Given the description of an element on the screen output the (x, y) to click on. 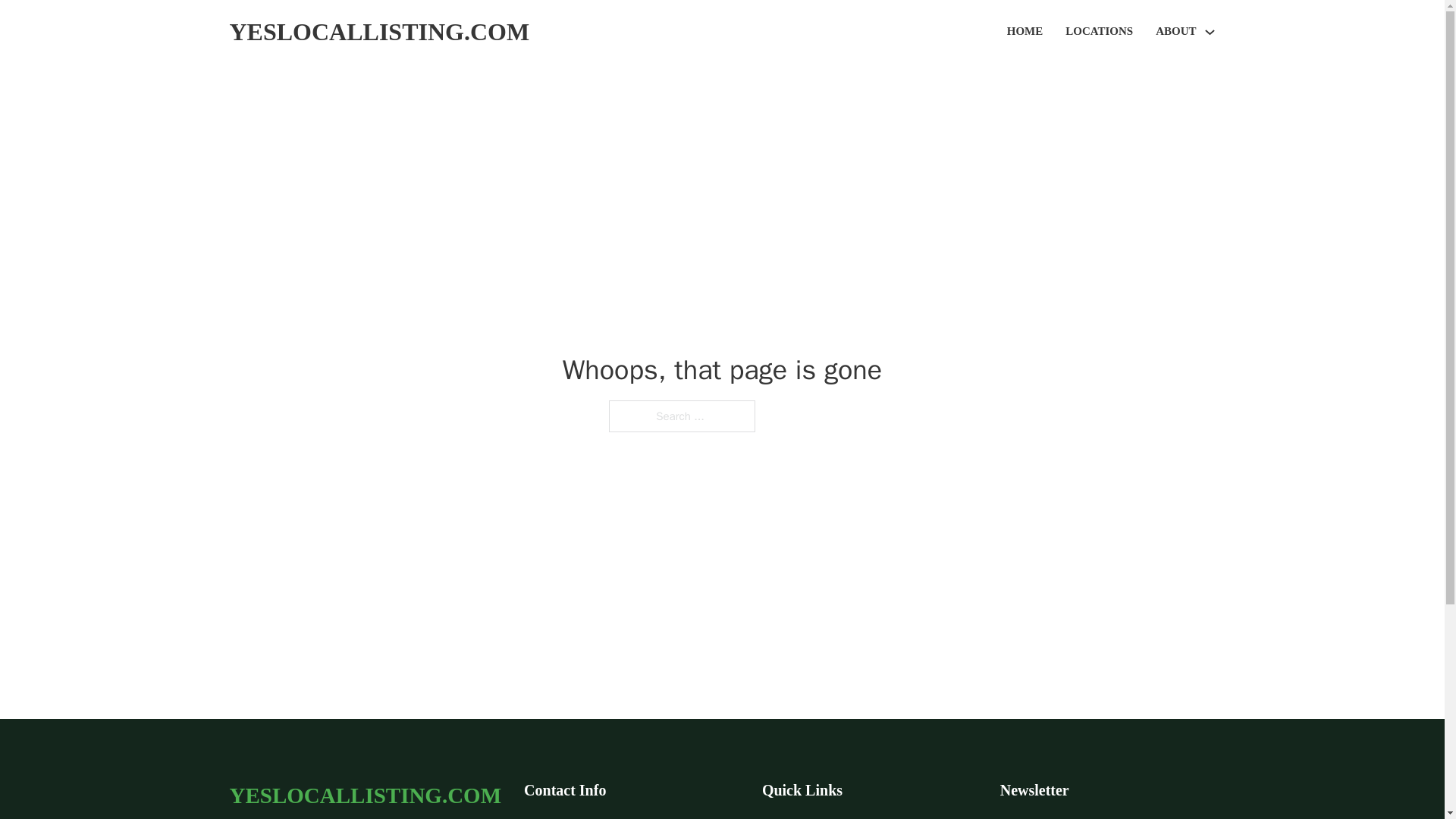
YESLOCALLISTING.COM (378, 31)
LOCATIONS (1098, 31)
YESLOCALLISTING.COM (364, 795)
HOME (1025, 31)
